Given the description of an element on the screen output the (x, y) to click on. 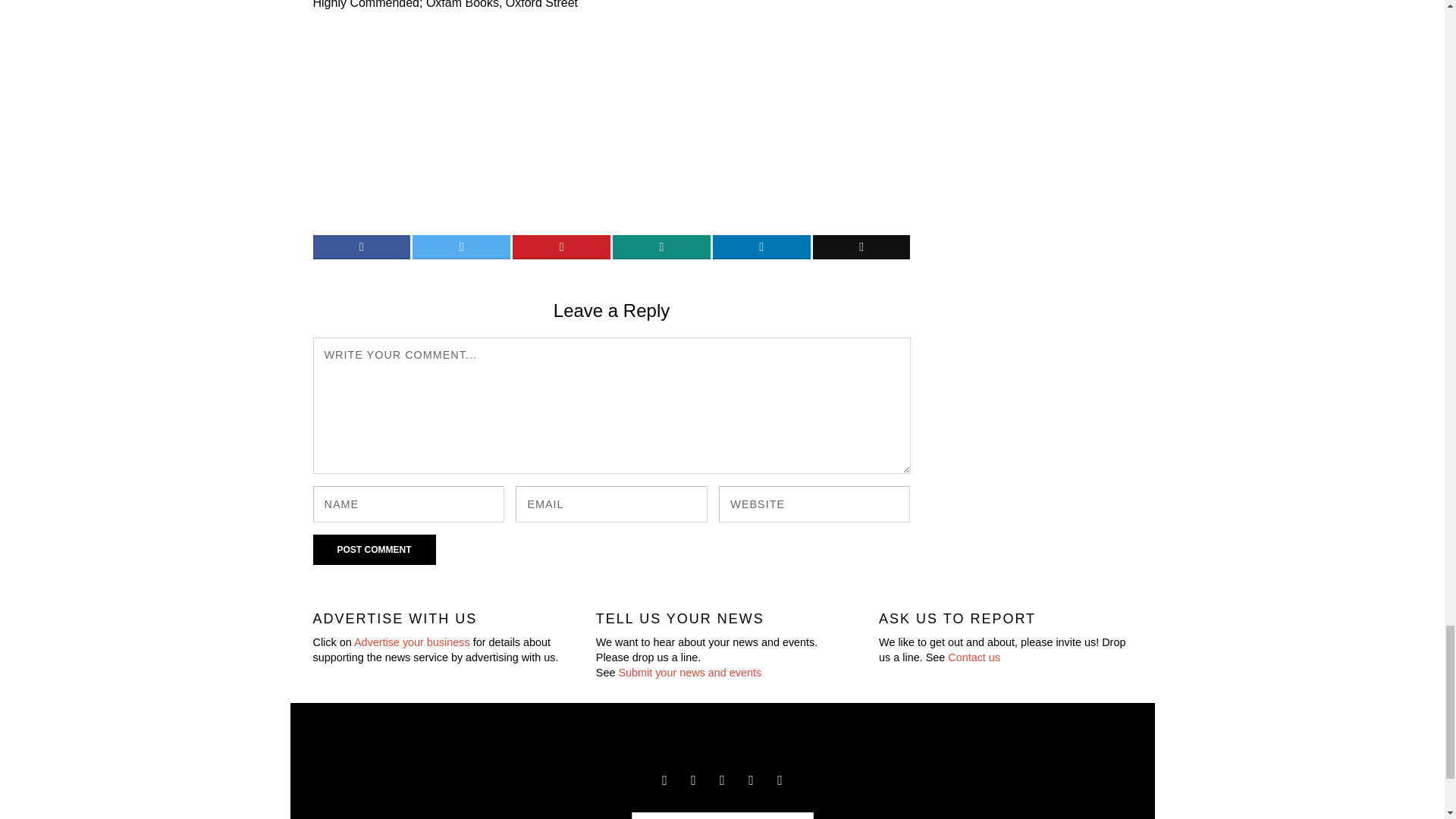
Post Comment (374, 549)
Go (794, 812)
Post Comment (374, 549)
